Given the description of an element on the screen output the (x, y) to click on. 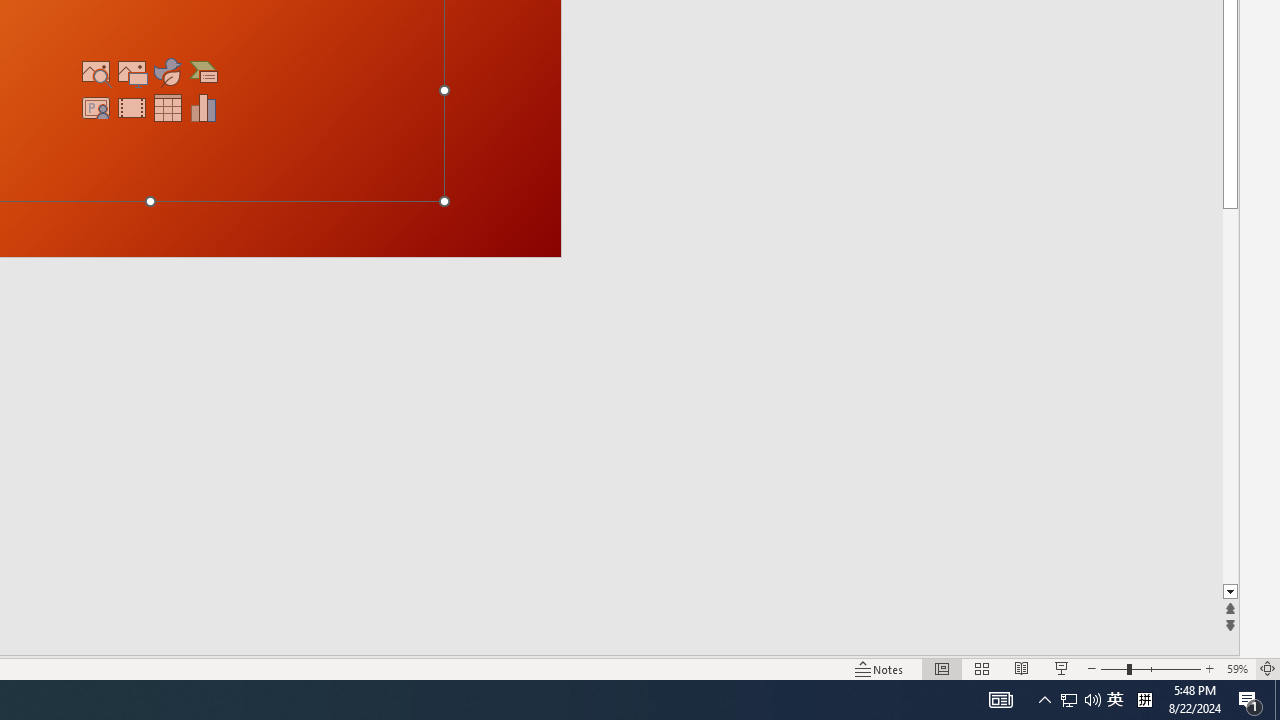
Zoom 59% (1236, 668)
Fit slide to current window. (1199, 636)
